Given the description of an element on the screen output the (x, y) to click on. 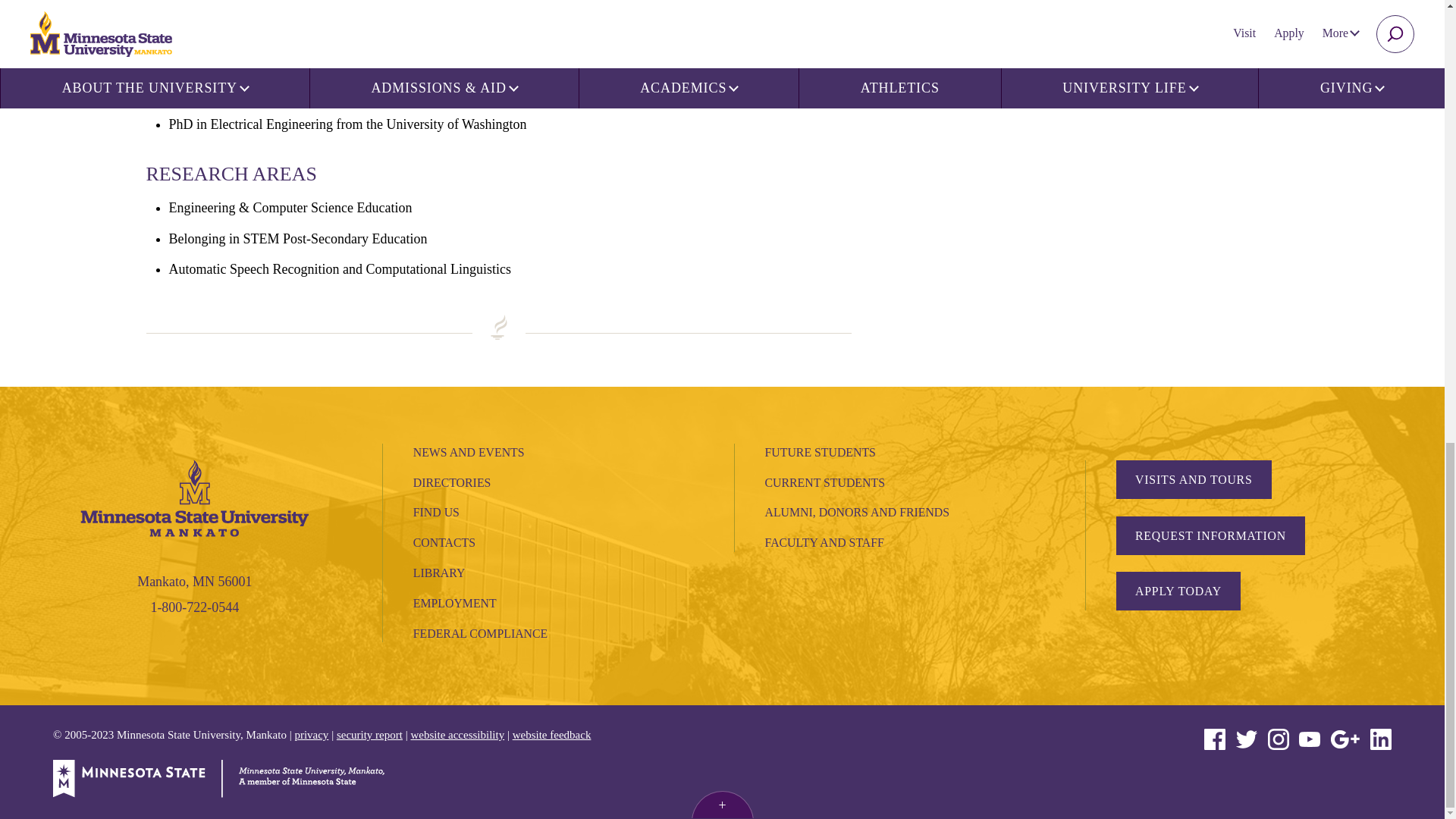
Visit Campus (1193, 479)
Request Information (1210, 535)
Minnesota State University, Mankato (194, 496)
